Given the description of an element on the screen output the (x, y) to click on. 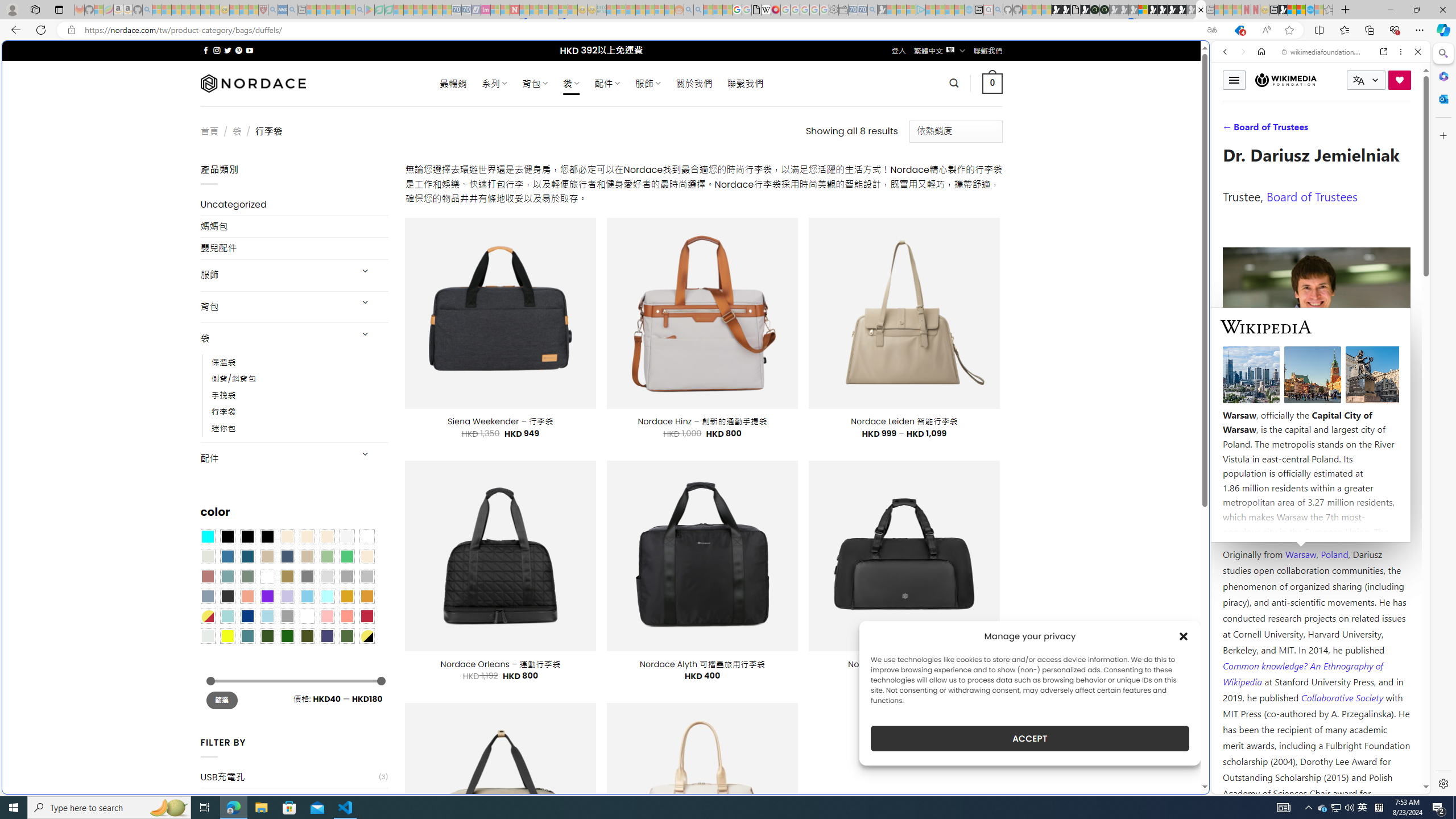
Board of Trustees (1311, 195)
Target page - Wikipedia (766, 9)
Donate now (1399, 80)
Future Focus Report 2024 (1103, 9)
